Given the description of an element on the screen output the (x, y) to click on. 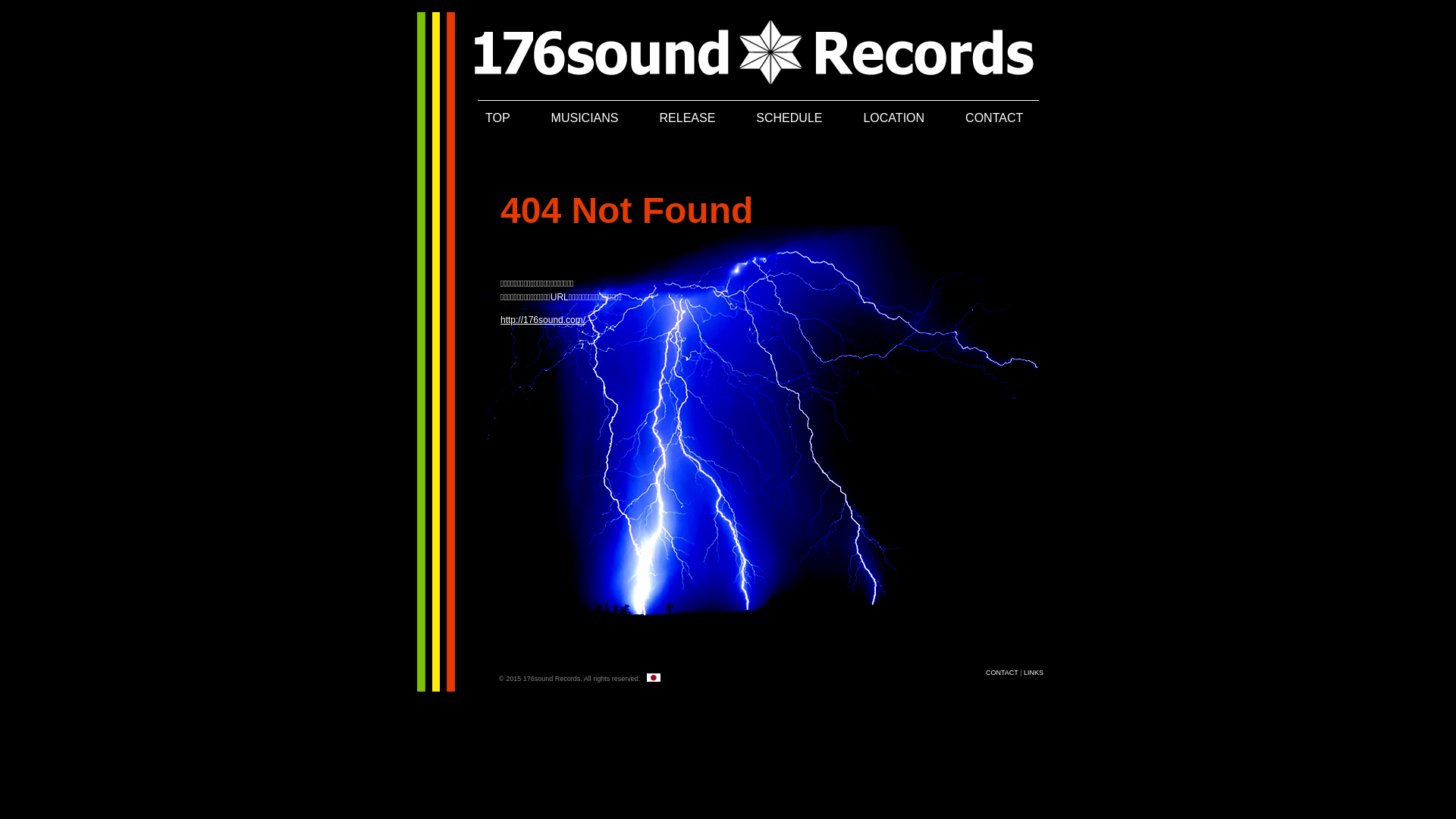
http://176sound.com/ Element type: text (542, 319)
LINKS Element type: text (1033, 672)
MUSICIANS Element type: text (584, 118)
TOP Element type: text (497, 118)
CONTACT Element type: text (1001, 672)
CONTACT Element type: text (993, 118)
LOCATION Element type: text (893, 118)
RELEASE Element type: text (687, 118)
SCHEDULE Element type: text (789, 118)
